Given the description of an element on the screen output the (x, y) to click on. 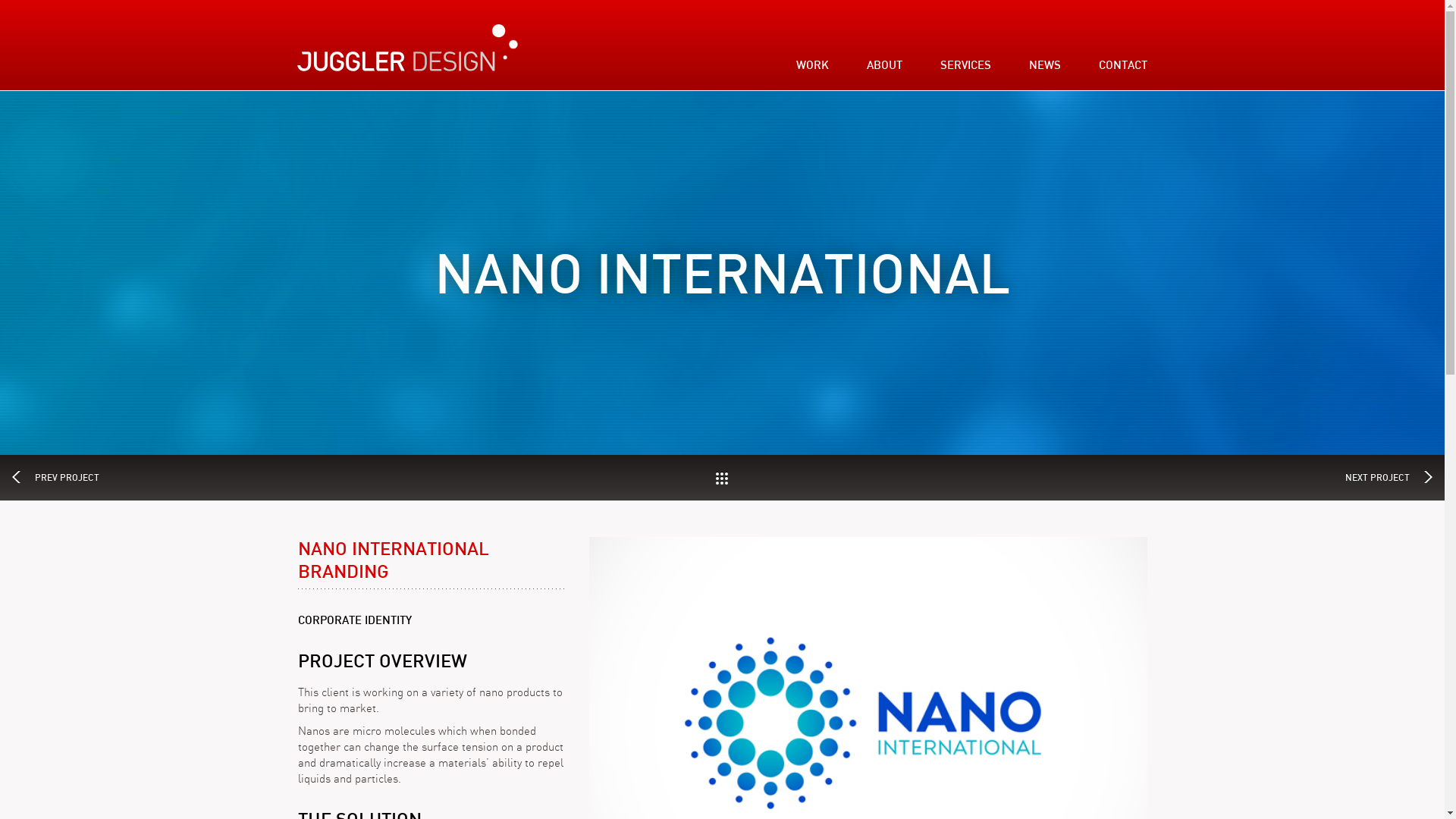
NEXT PROJECT Element type: text (1363, 477)
ABOUT Element type: text (884, 64)
SERVICES Element type: text (965, 64)
WORK Element type: text (812, 64)
PREV PROJECT Element type: text (80, 477)
NEWS Element type: text (1044, 64)
CONTACT Element type: text (1122, 64)
